Given the description of an element on the screen output the (x, y) to click on. 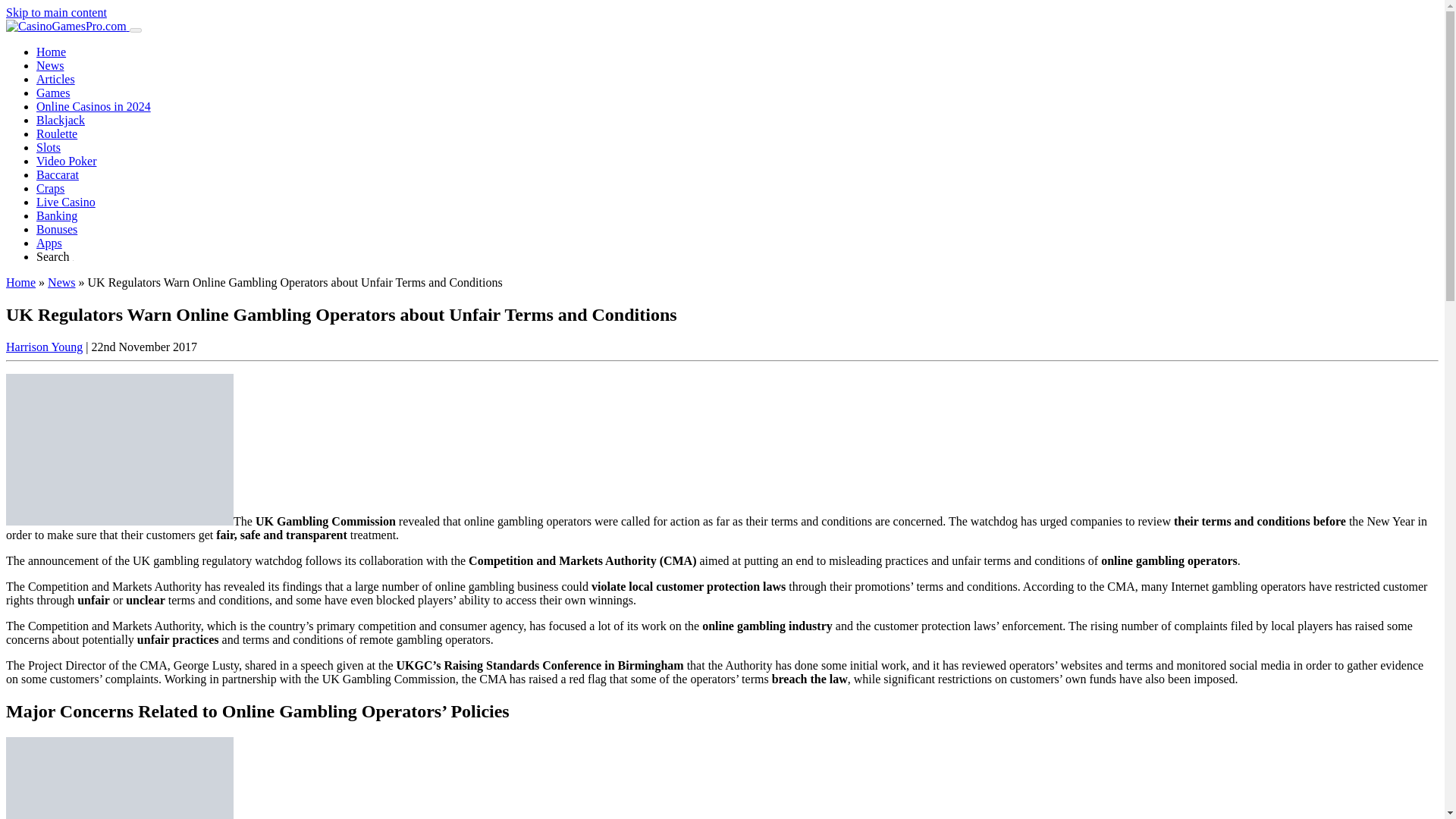
Skip to main content (55, 11)
Games (52, 92)
Online Casinos in 2024 (93, 106)
Home (50, 51)
Slots (48, 146)
Live Casino (66, 201)
Roulette (56, 133)
Banking (56, 215)
Bonuses (56, 228)
Roulette (56, 133)
